Given the description of an element on the screen output the (x, y) to click on. 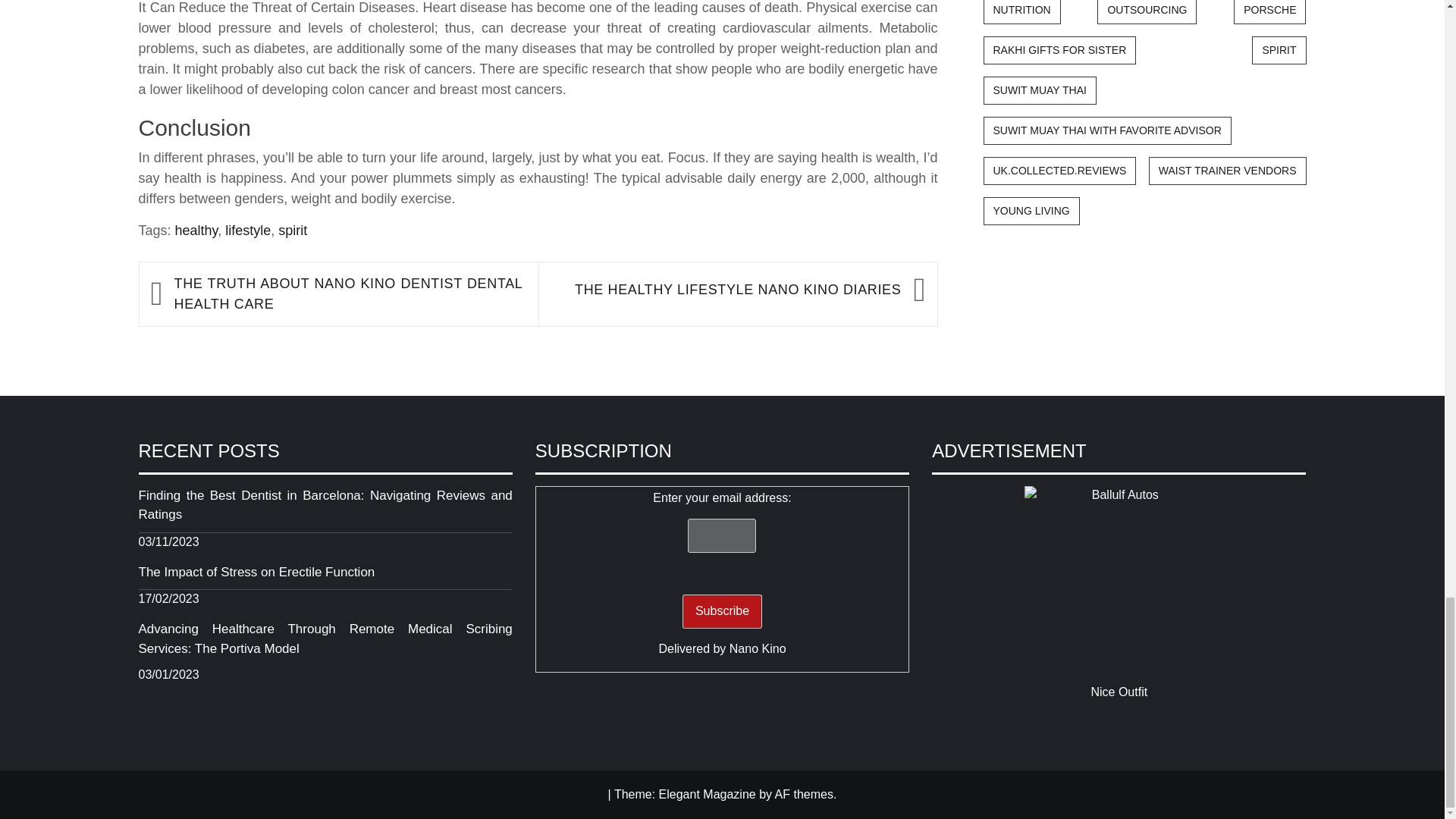
Ballulf Autos (1119, 580)
THE HEALTHY LIFESTYLE NANO KINO DIARIES (726, 290)
Subscribe (721, 611)
spirit (292, 230)
THE TRUTH ABOUT NANO KINO DENTIST DENTAL HEALTH CARE (348, 293)
lifestyle (247, 230)
healthy (196, 230)
